Given the description of an element on the screen output the (x, y) to click on. 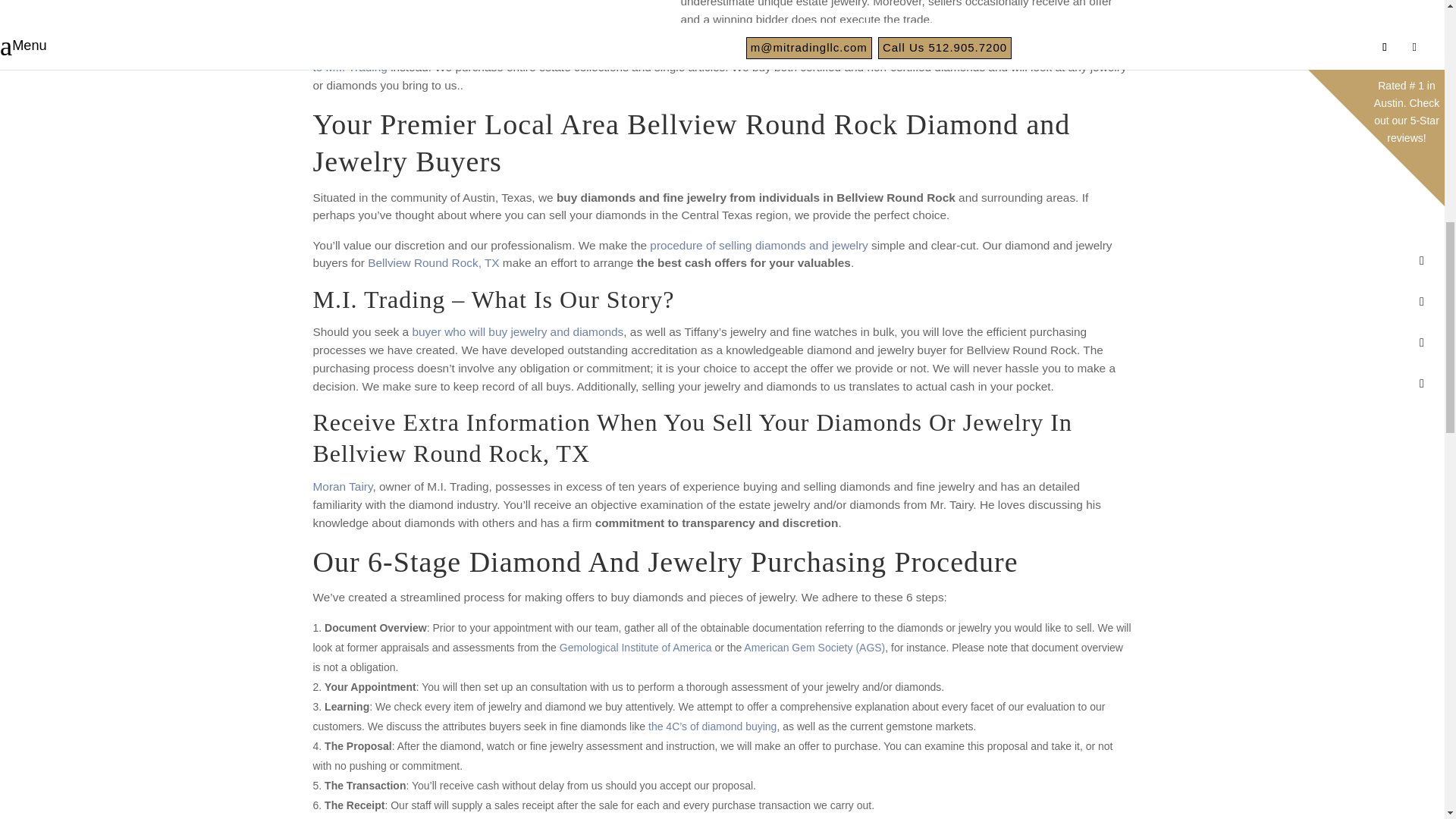
sell your fine jewelry to M.I. Trading (719, 57)
Gemological Institute of America (635, 647)
Bellview Round Rock, TX (433, 262)
Moran Tairy (342, 486)
buyer who will buy jewelry and diamonds (517, 331)
procedure of selling diamonds and jewelry (758, 245)
